Given the description of an element on the screen output the (x, y) to click on. 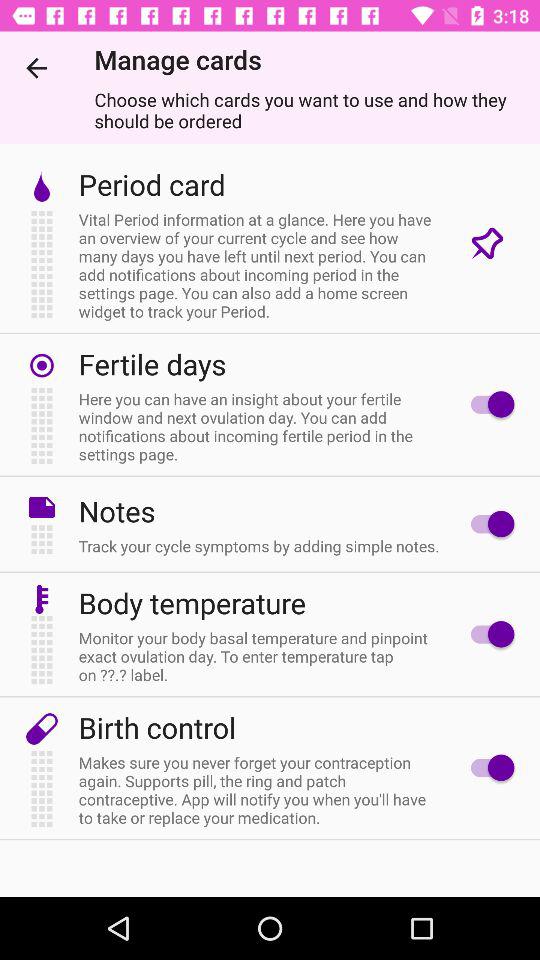
toggle notifications (487, 404)
